Given the description of an element on the screen output the (x, y) to click on. 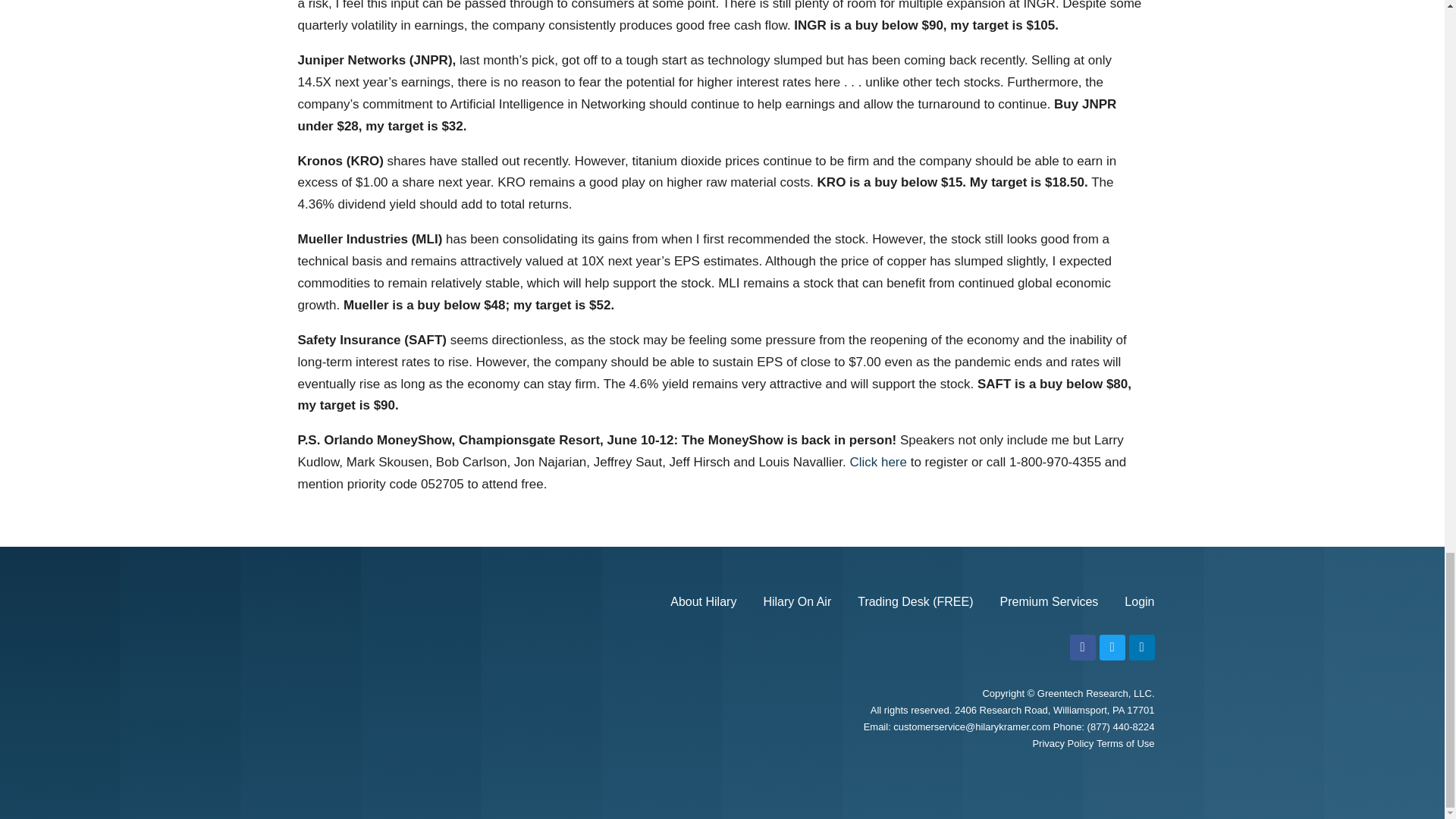
Premium Services (1049, 601)
Hilary On Air (796, 601)
About Hilary (702, 601)
Click here (877, 462)
